Given the description of an element on the screen output the (x, y) to click on. 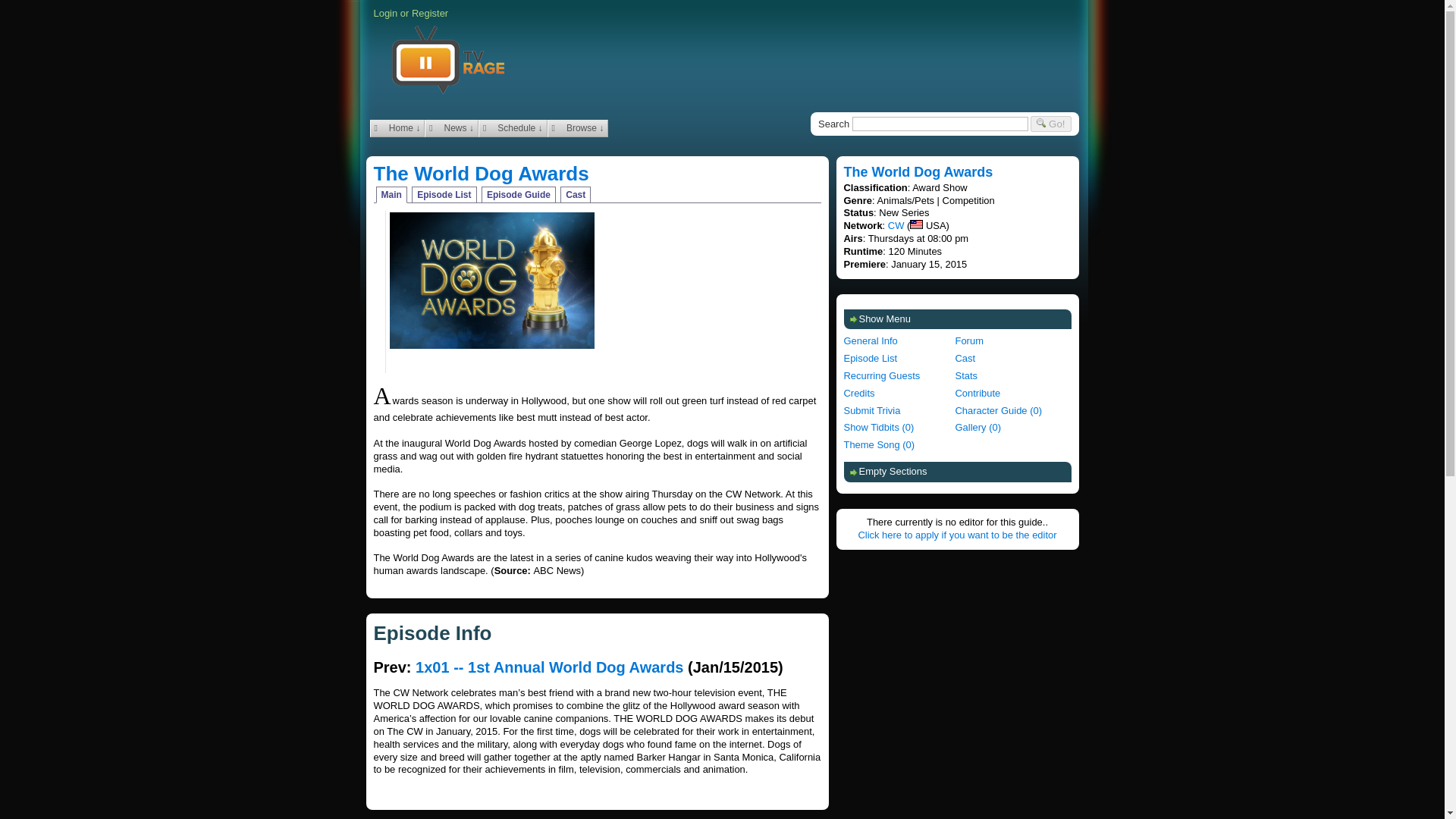
Login (384, 12)
Show Menu (956, 319)
The World Dog Awards Cast (1011, 358)
1x01 -- 1st Annual World Dog Awards (548, 667)
The World Dog Awards (480, 173)
Cast (575, 194)
Episode Guide (518, 194)
Episode List (444, 194)
CW (896, 225)
The World Dog Awards (899, 341)
